Given the description of an element on the screen output the (x, y) to click on. 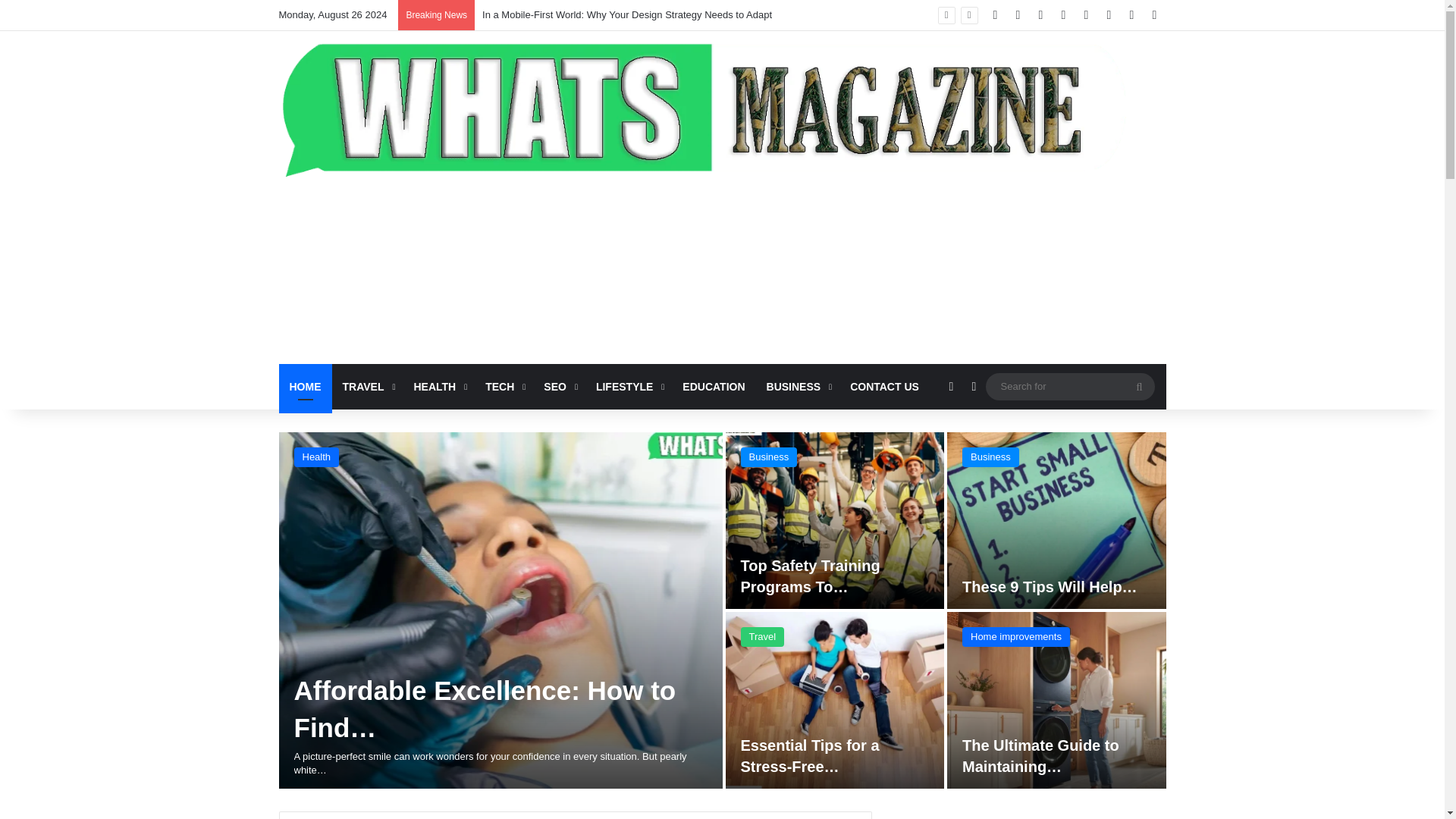
SEO (558, 386)
TECH (503, 386)
Search for (1139, 386)
BUSINESS (797, 386)
Search for (1069, 385)
CONTACT US (885, 386)
LIFESTYLE (628, 386)
EDUCATION (713, 386)
